Given the description of an element on the screen output the (x, y) to click on. 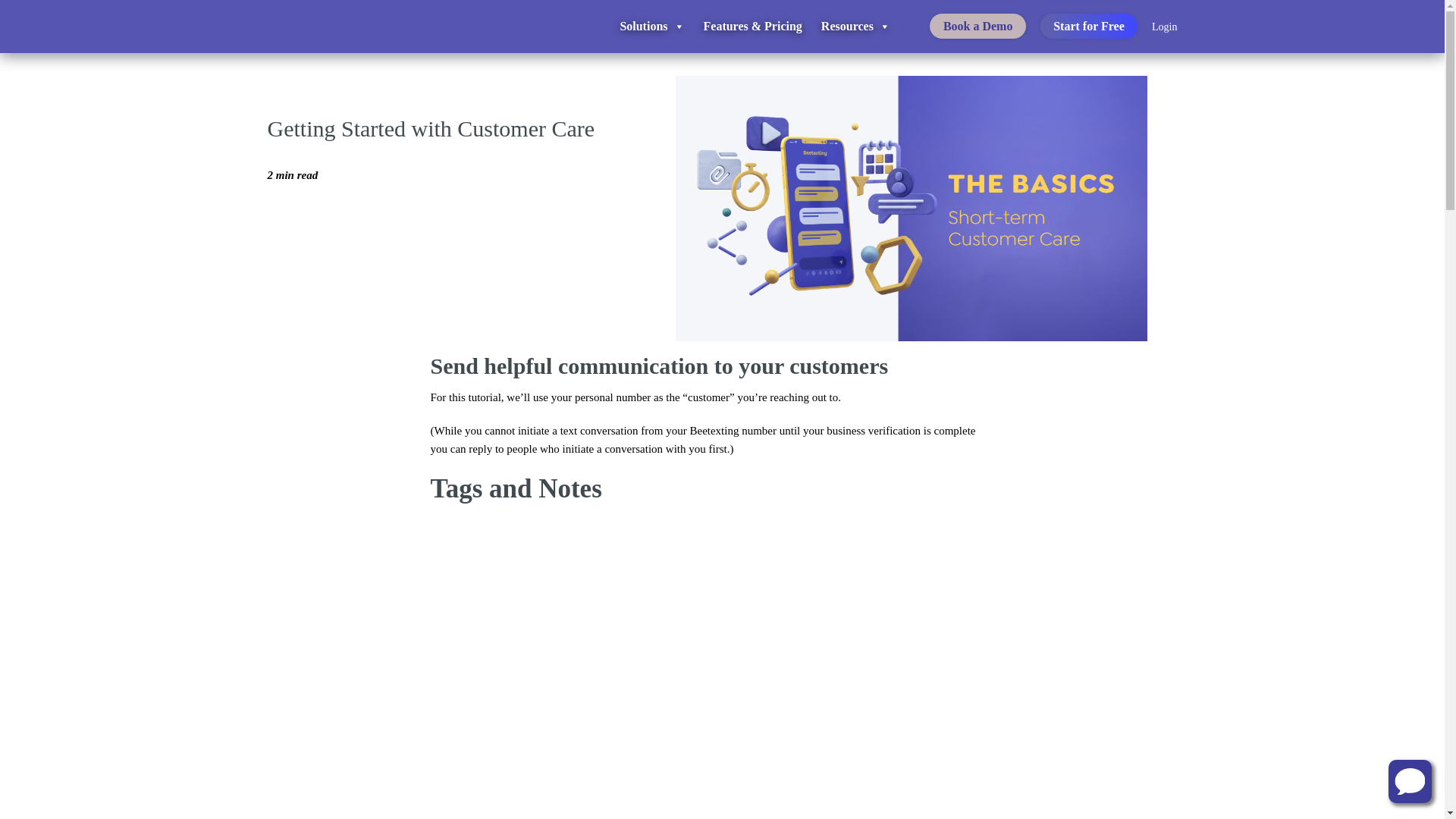
Start for Free (1089, 25)
Solutions (652, 26)
Login (1163, 26)
Resources (854, 26)
Book a Demo (978, 25)
